Given the description of an element on the screen output the (x, y) to click on. 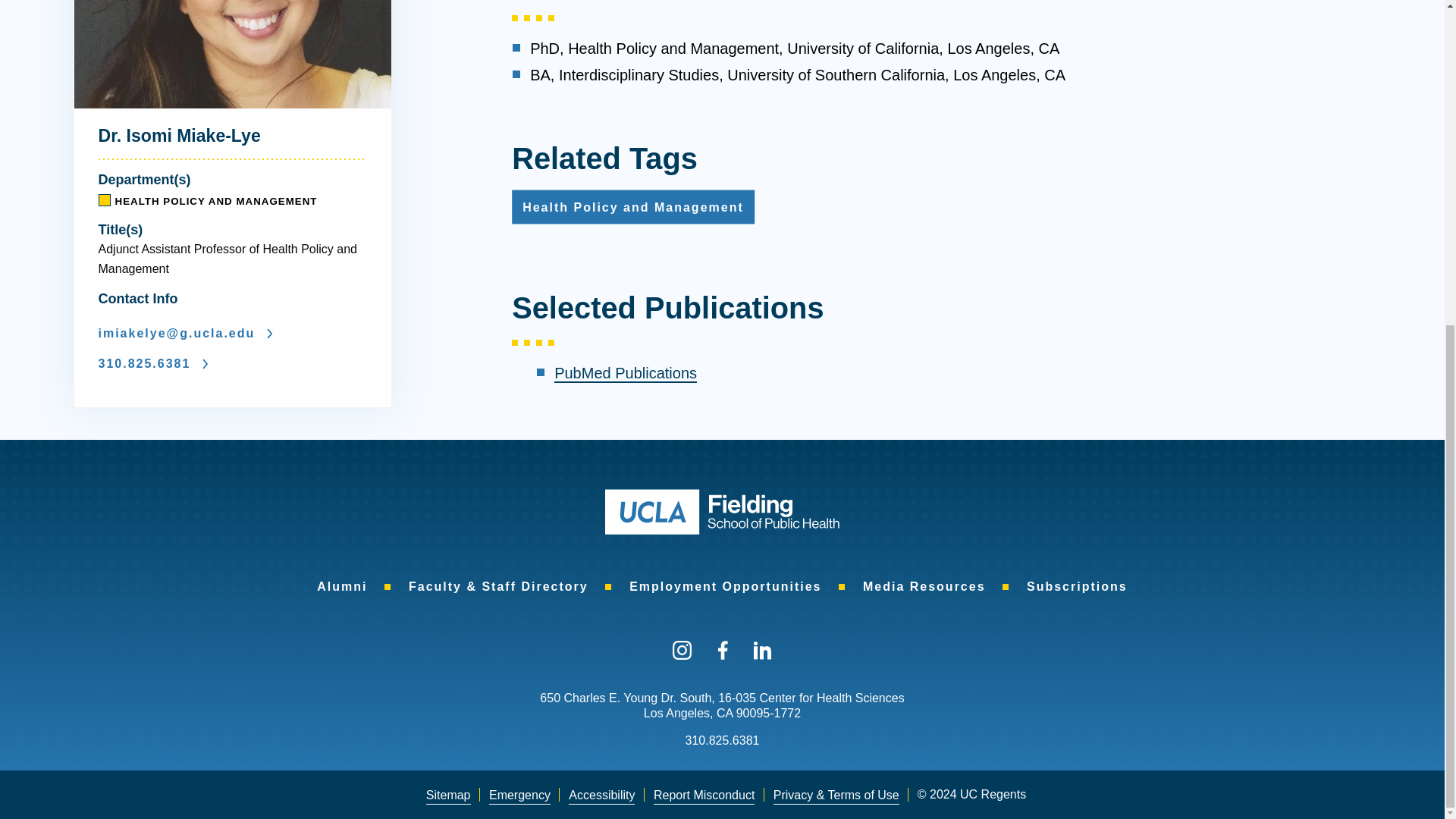
California (724, 712)
